Given the description of an element on the screen output the (x, y) to click on. 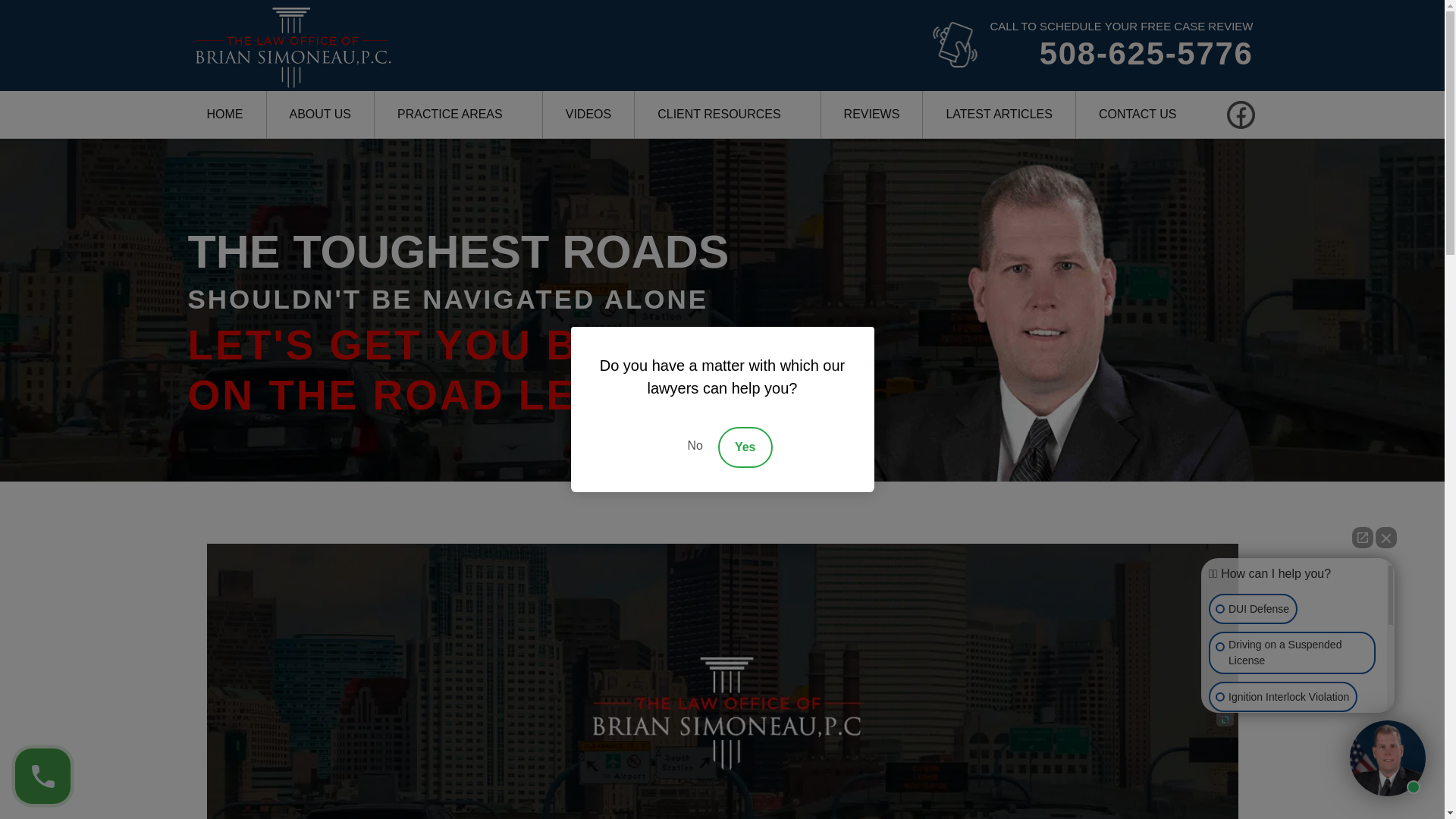
PRACTICE AREAS (458, 114)
ABOUT US (320, 114)
508-625-5776 (1121, 53)
HOME (224, 114)
